Given the description of an element on the screen output the (x, y) to click on. 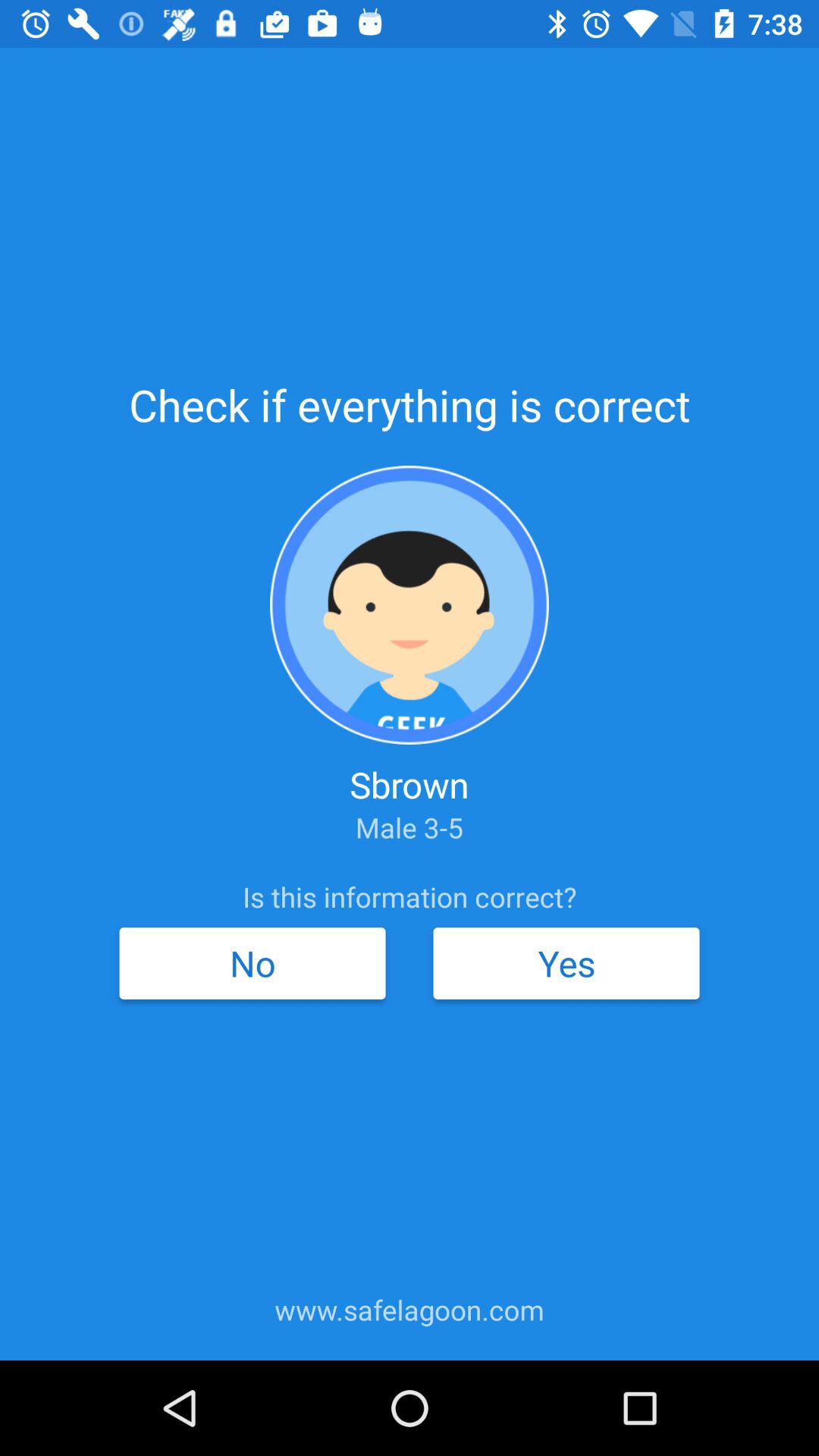
launch the icon above the www.safelagoon.com (252, 963)
